Given the description of an element on the screen output the (x, y) to click on. 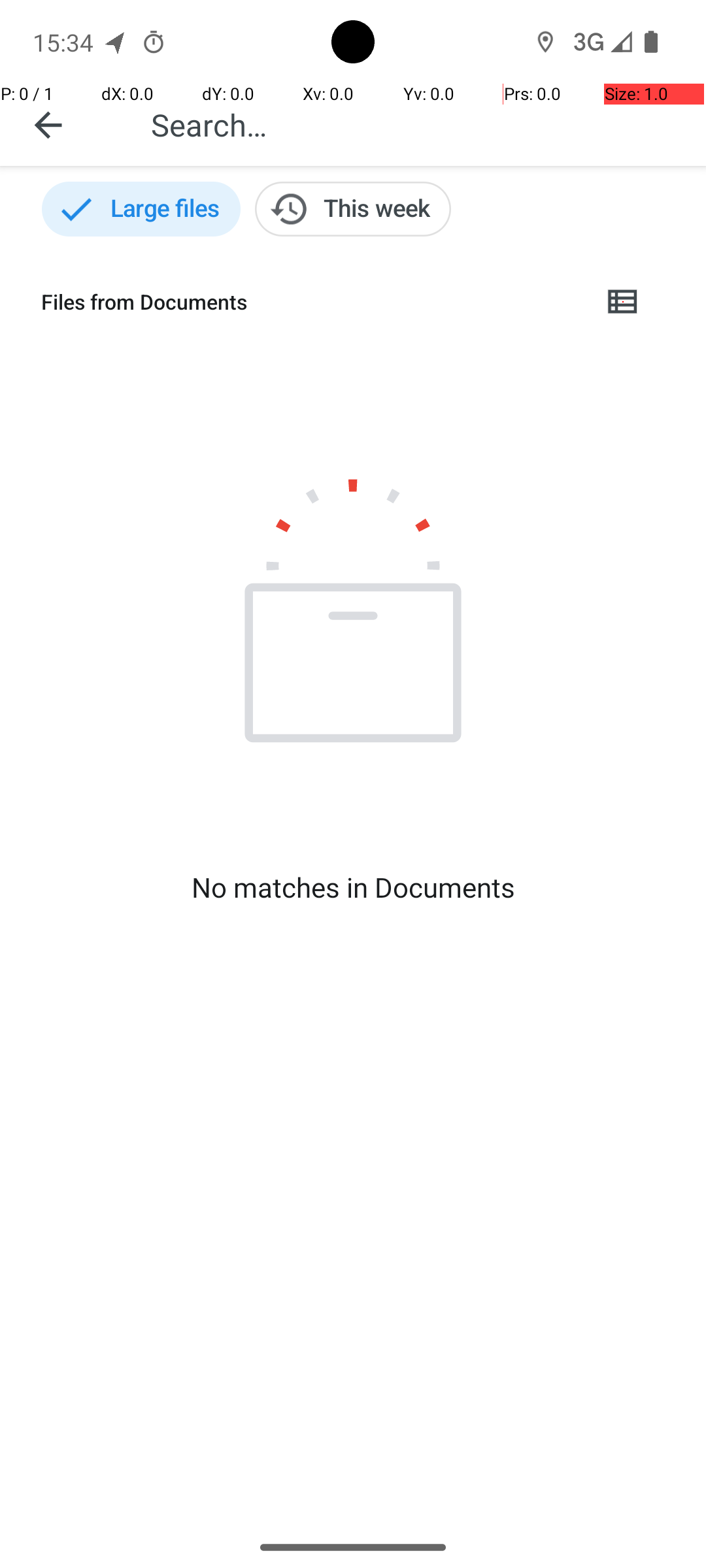
No matches in Documents Element type: android.widget.TextView (352, 886)
